Given the description of an element on the screen output the (x, y) to click on. 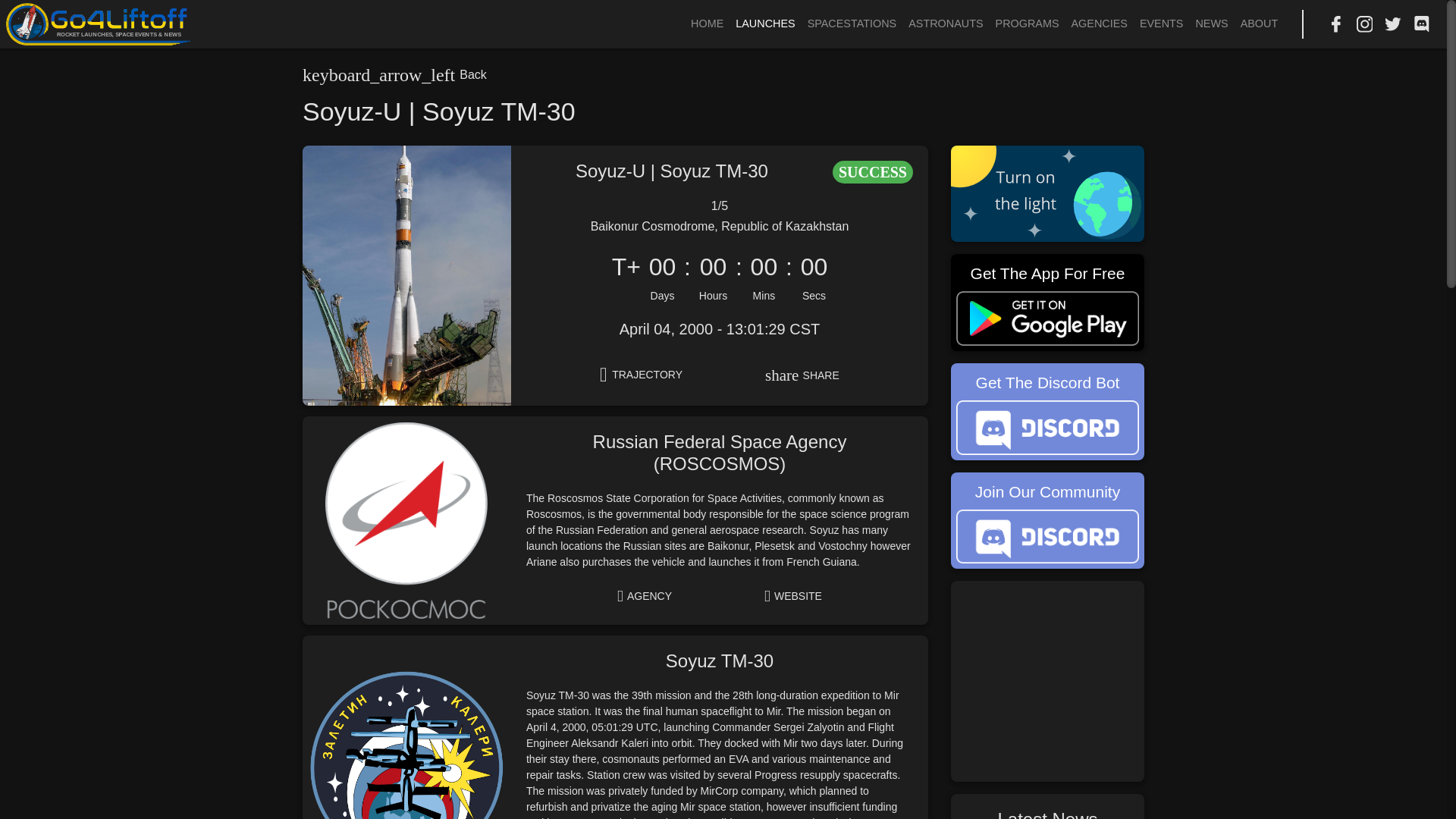
ABOUT (1259, 24)
EVENTS (1161, 24)
LAUNCHES (764, 24)
NEWS (1211, 24)
HOME (706, 24)
SPACESTATIONS (852, 24)
TRAJECTORY (641, 374)
AGENCIES (1099, 24)
WEBSITE (793, 595)
